Given the description of an element on the screen output the (x, y) to click on. 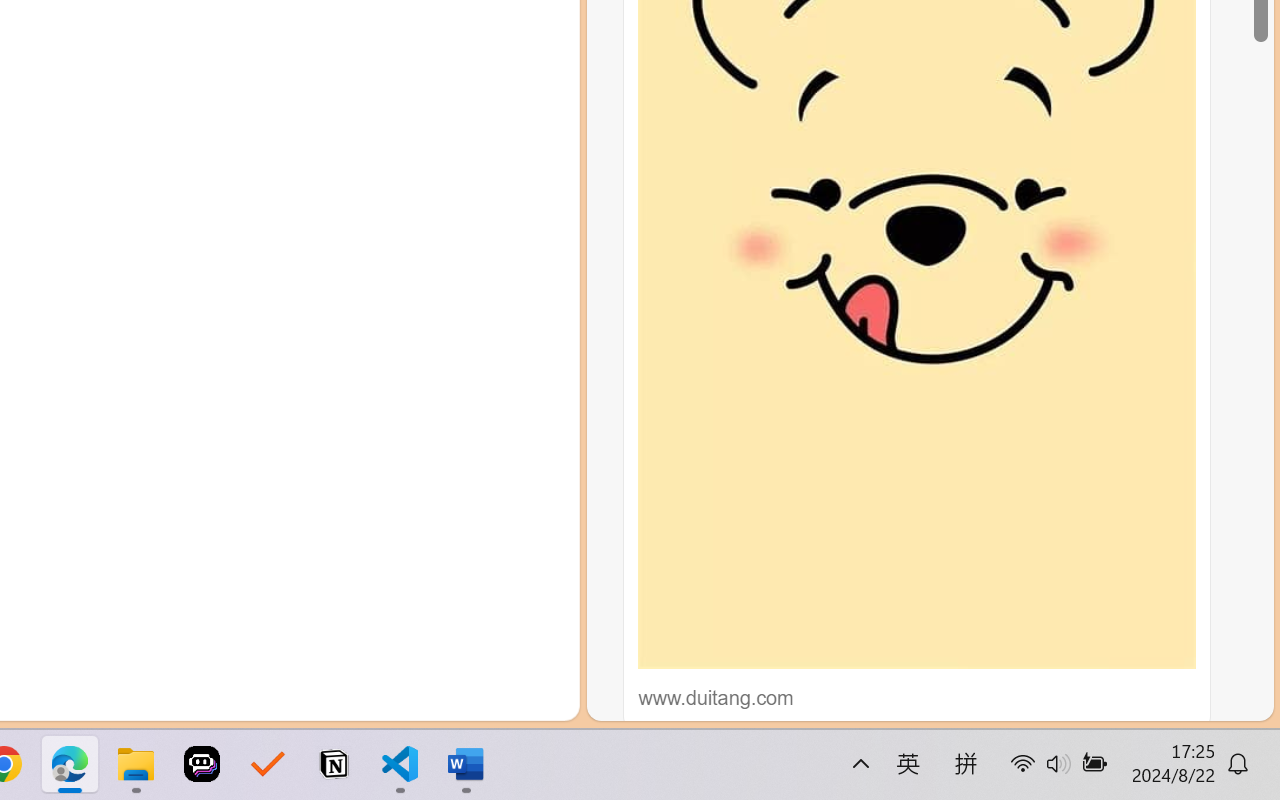
Notifications (537, 698)
copilot-notconnected, Copilot error (click for details) (481, 698)
